Given the description of an element on the screen output the (x, y) to click on. 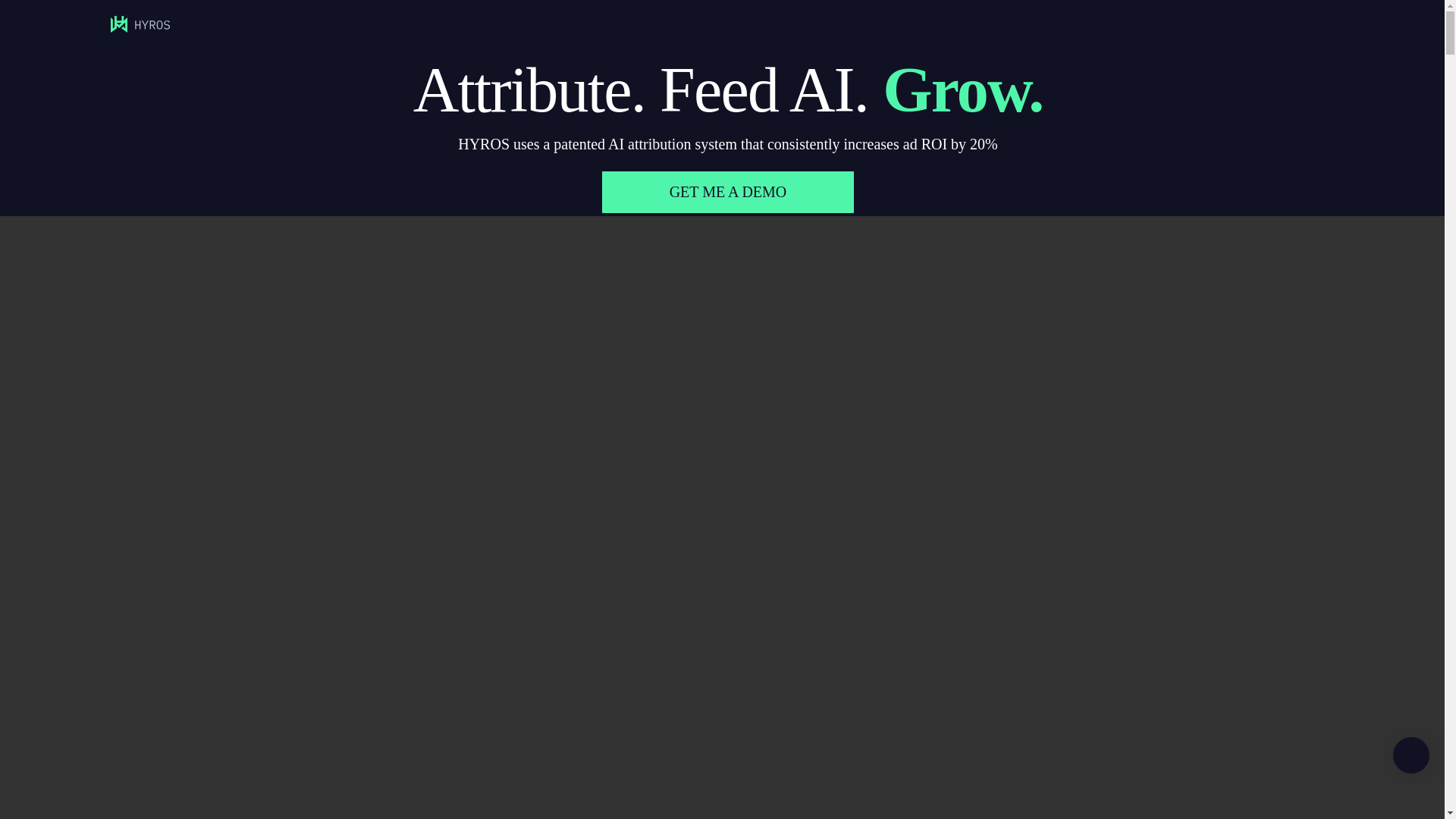
GET ME A DEMO (728, 191)
